Given the description of an element on the screen output the (x, y) to click on. 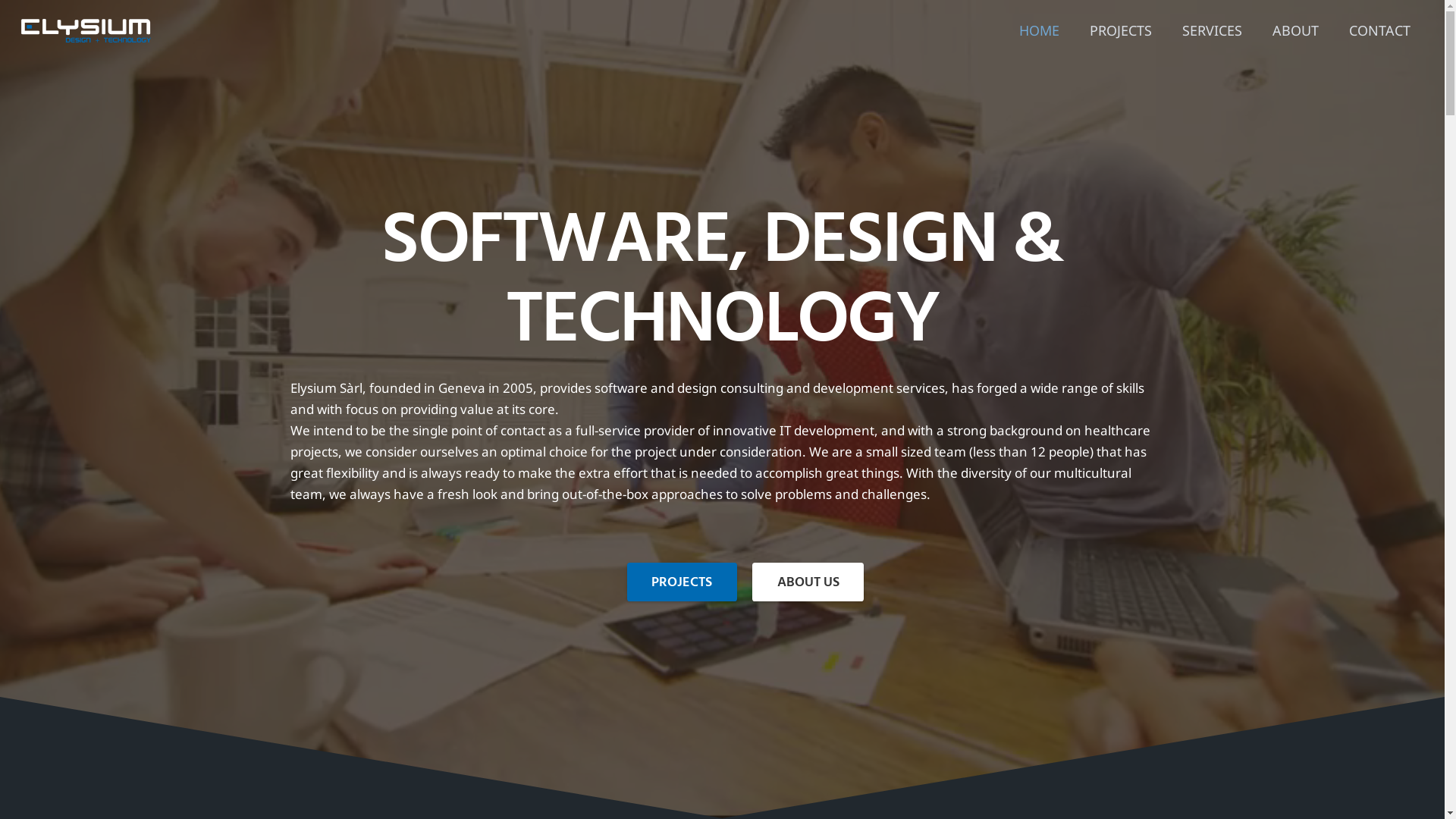
ABOUT Element type: text (1295, 30)
SERVICES Element type: text (1211, 30)
PROJECTS Element type: text (682, 581)
ABOUT US Element type: text (807, 581)
CONTACT Element type: text (1378, 30)
PROJECTS Element type: text (1119, 30)
HOME Element type: text (1039, 30)
